Given the description of an element on the screen output the (x, y) to click on. 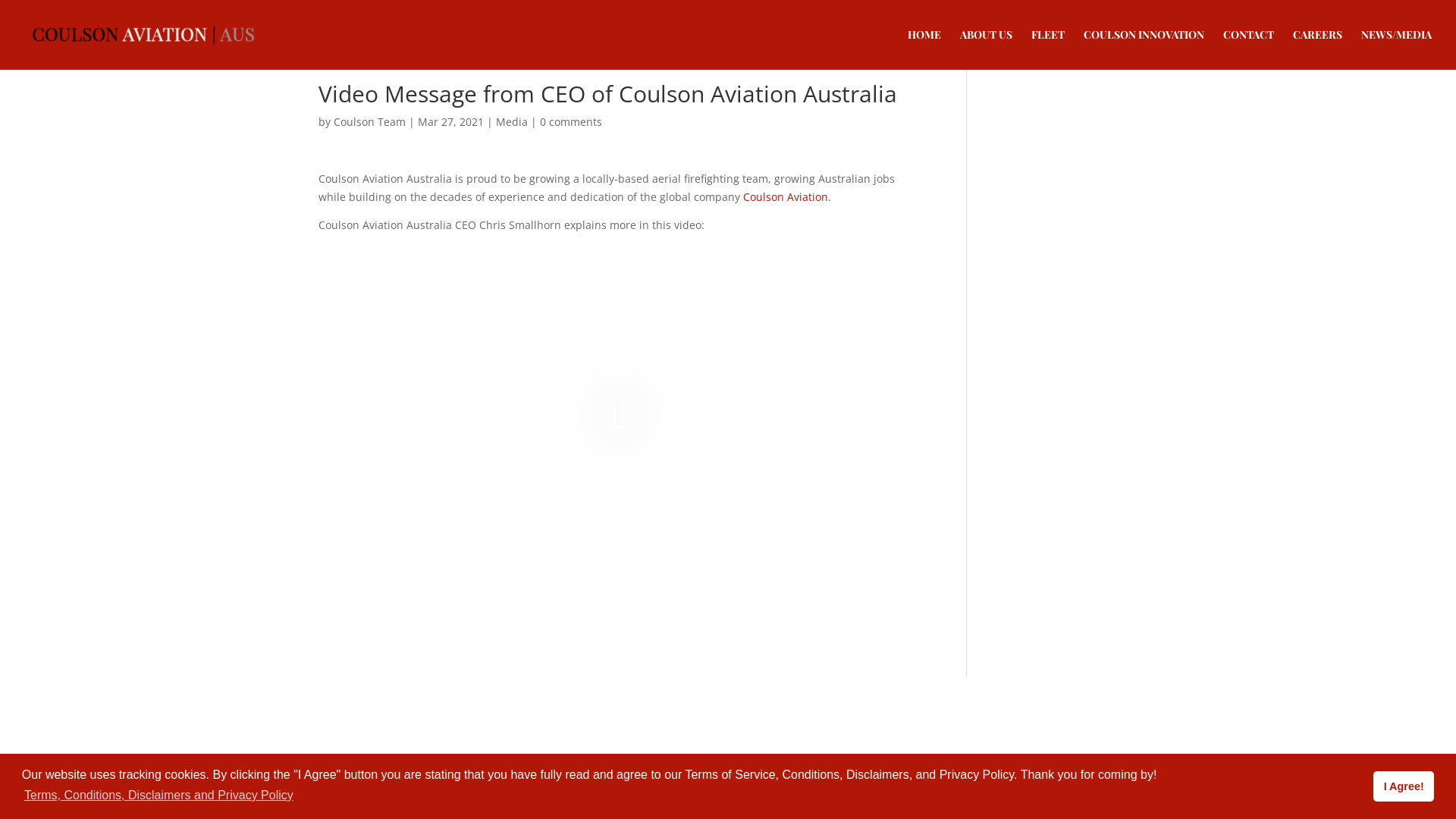
0 comments Element type: text (570, 121)
NEWS/MEDIA Element type: text (1396, 49)
ABOUT US Element type: text (986, 49)
Terms, Conditions, Disclaimers and Privacy Policy Element type: text (158, 795)
COULSON INNOVATION Element type: text (1143, 49)
I Agree! Element type: text (1403, 786)
Media Element type: text (511, 121)
Play video "Coulson Aviation Australia CEO Chris Smallhorn" Element type: hover (619, 413)
CONTACT Element type: text (1248, 49)
FLEET Element type: text (1047, 49)
Coulson Aviation Element type: text (785, 196)
CAREERS Element type: text (1317, 49)
Coulson Team Element type: text (369, 121)
HOME Element type: text (924, 49)
